Given the description of an element on the screen output the (x, y) to click on. 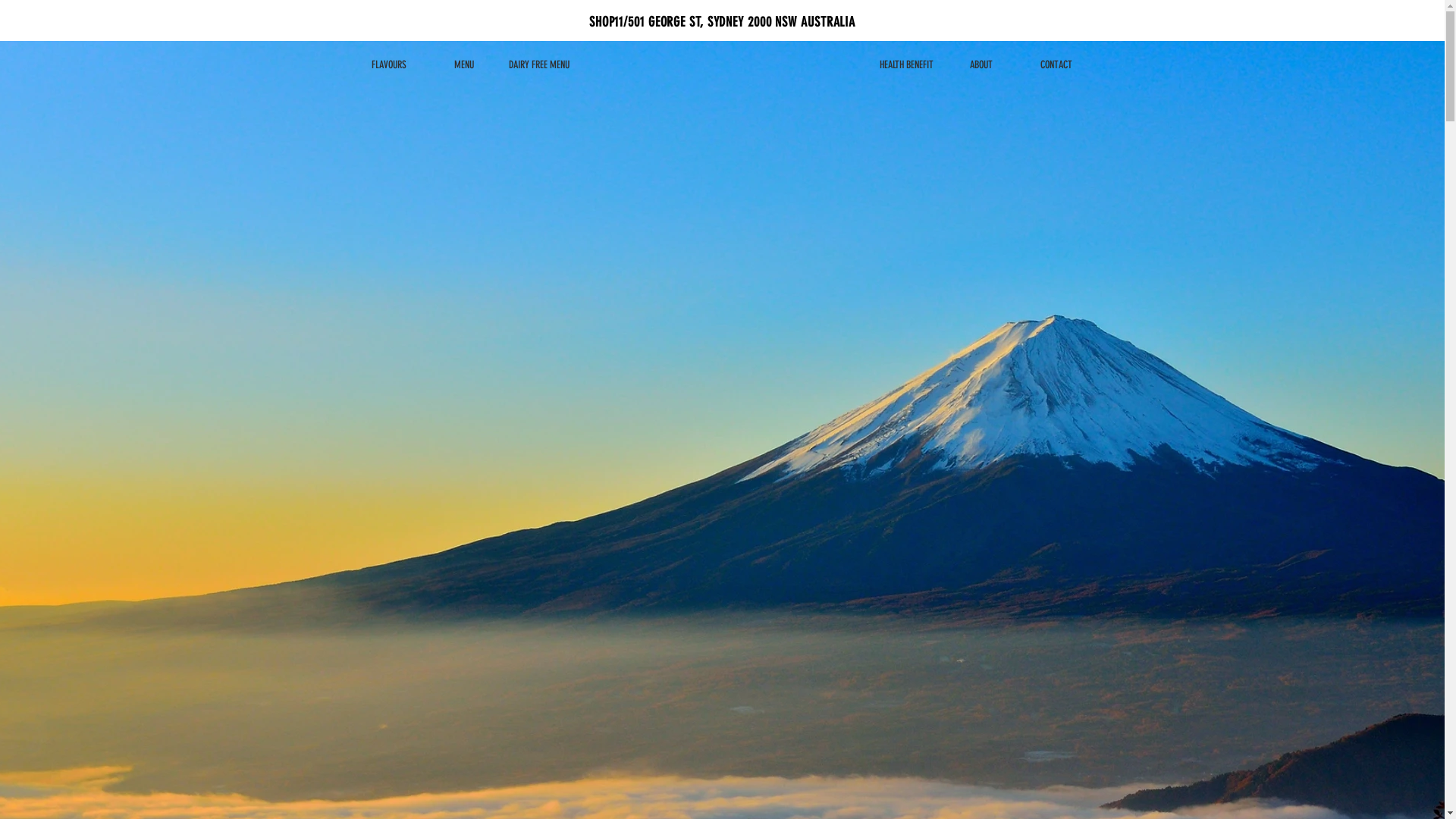
DAIRY FREE MENU Element type: text (539, 64)
FLAVOURS Element type: text (388, 64)
ABOUT Element type: text (980, 64)
HOME Element type: text (195, 121)
HEALTH BENEFIT Element type: text (906, 64)
MENU Element type: text (463, 64)
CONTACT Element type: text (1056, 64)
